Given the description of an element on the screen output the (x, y) to click on. 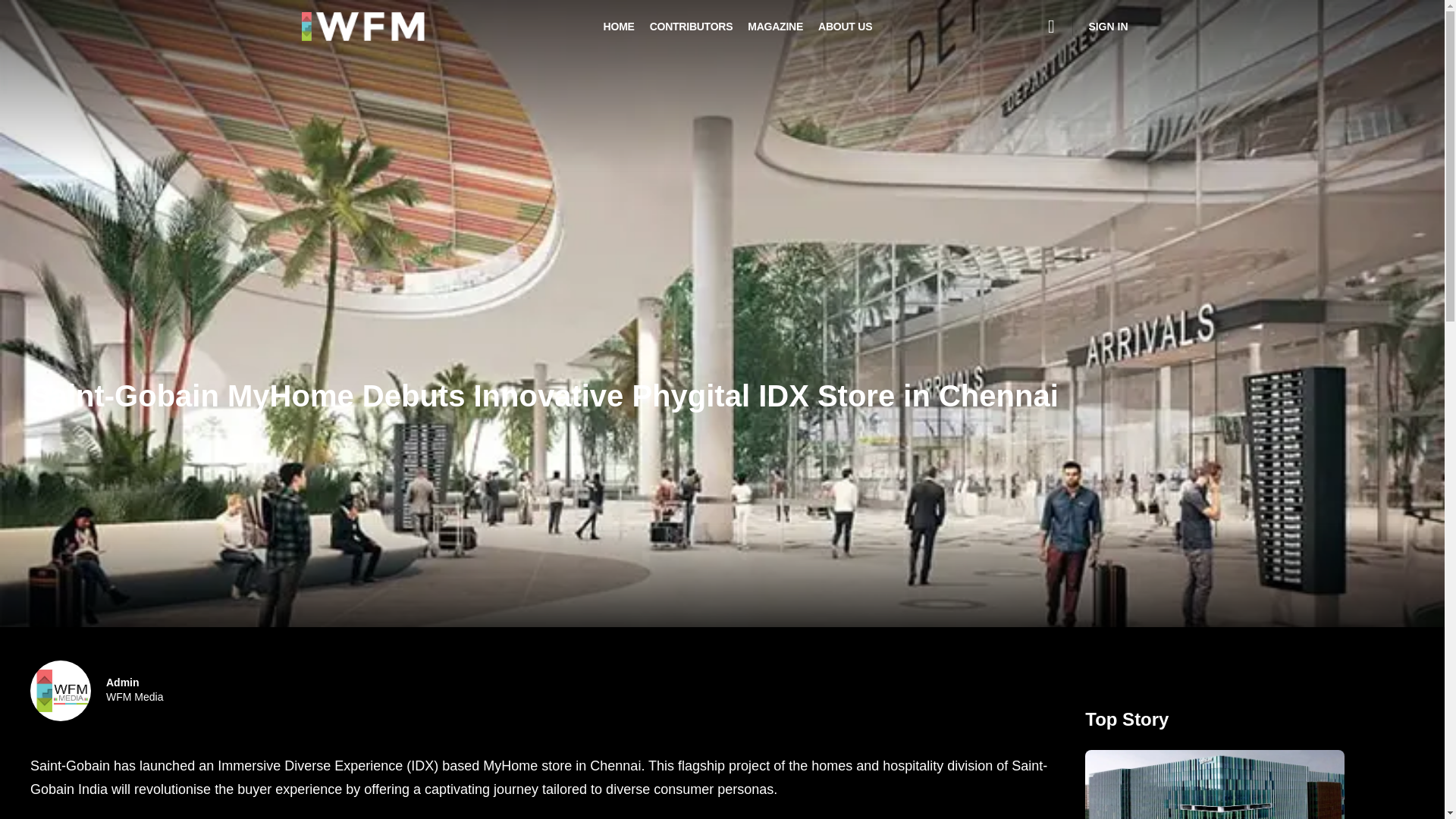
SIGN IN (1107, 26)
ABOUT US (845, 26)
MAGAZINE (775, 26)
CONTRIBUTORS (134, 690)
